Given the description of an element on the screen output the (x, y) to click on. 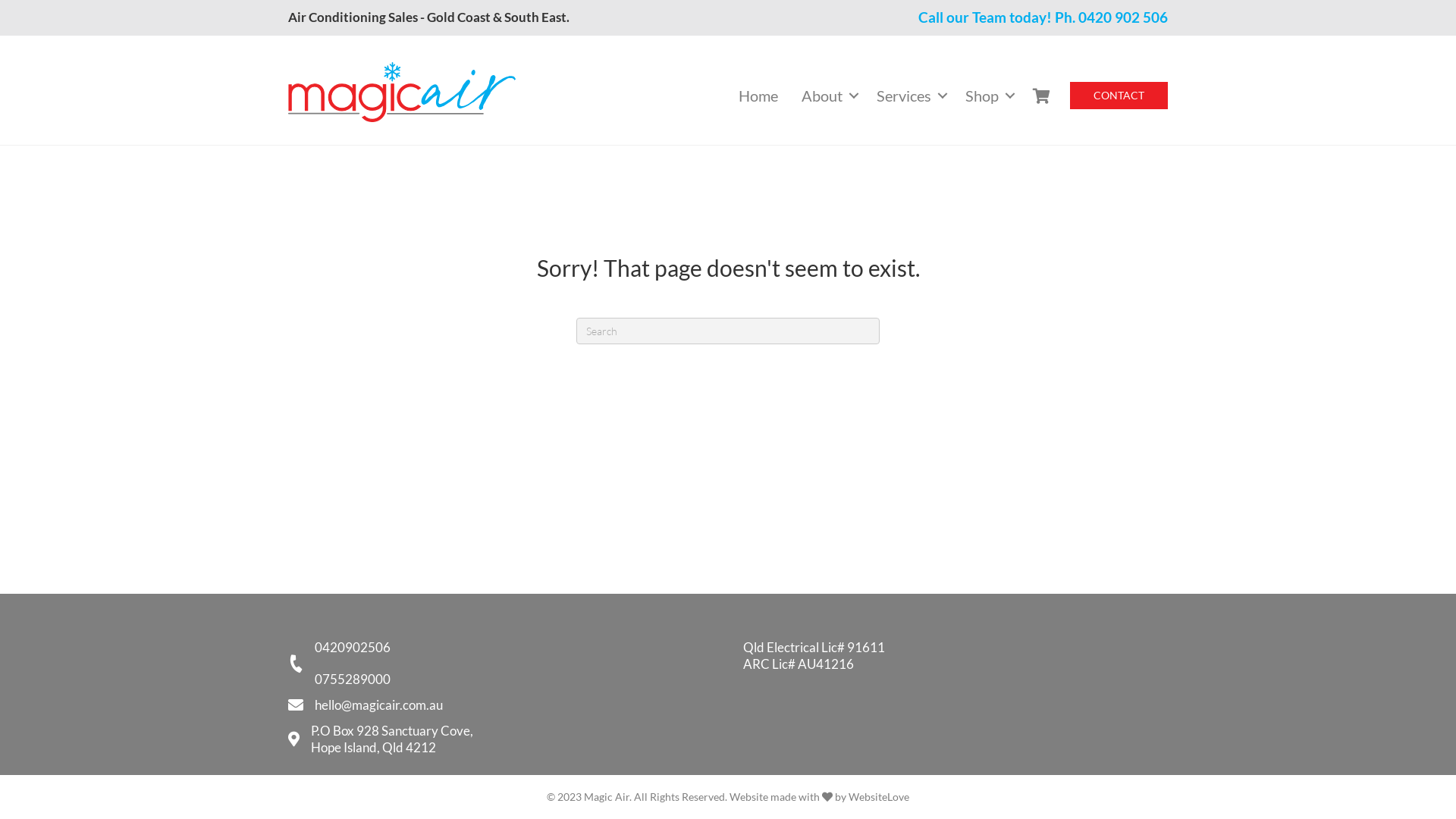
WebsiteLove Element type: text (878, 796)
CONTACT Element type: text (1118, 95)
Services Element type: text (909, 95)
hello@magicair.com.au Element type: text (378, 704)
0420902506
0755289000 Element type: text (352, 663)
Call our Team today! Ph. 0420 902 506 Element type: text (1042, 16)
Shop Element type: text (986, 95)
Magic Air Element type: hover (401, 92)
About Element type: text (827, 95)
Home Element type: text (758, 95)
Type and press Enter to search. Element type: hover (727, 330)
P.O Box 928 Sanctuary Cove,
Hope Island, Qld 4212 Element type: text (391, 739)
